Given the description of an element on the screen output the (x, y) to click on. 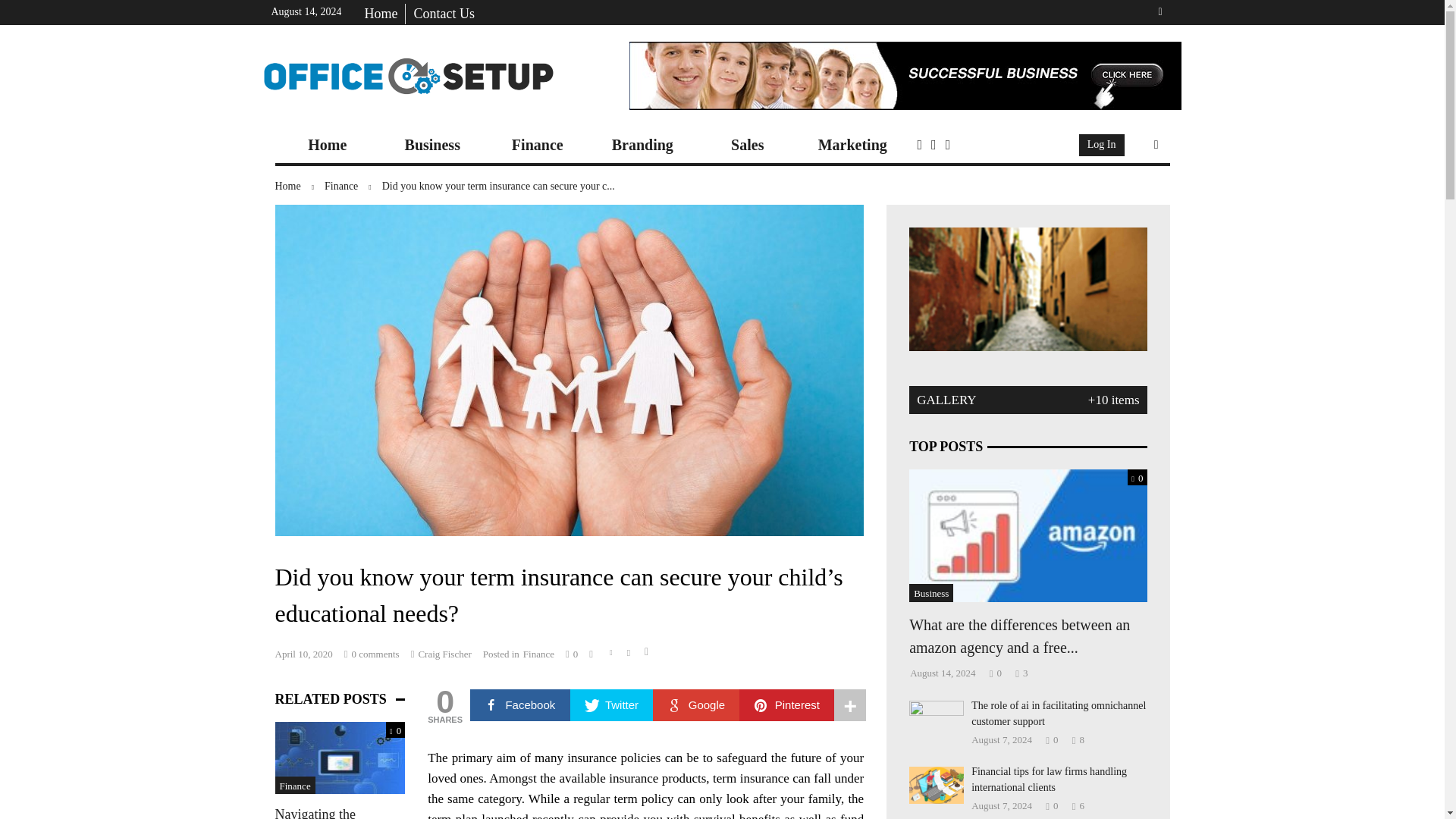
Finance (352, 185)
Home (299, 185)
Log In (1101, 145)
Finance (537, 144)
Twitter (611, 705)
Contact Us (443, 13)
Marketing (852, 144)
Facebook (520, 705)
